Given the description of an element on the screen output the (x, y) to click on. 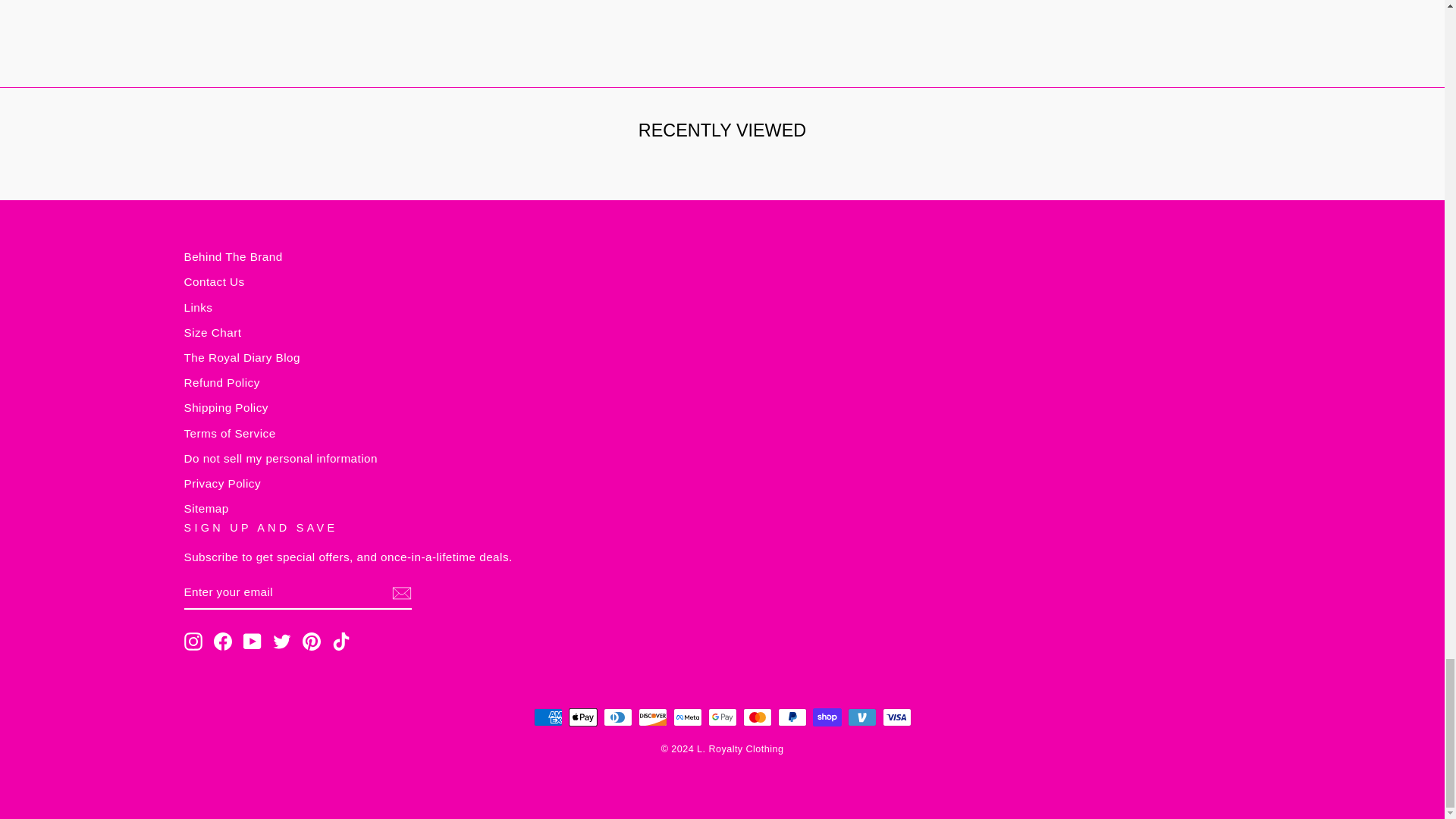
L. Royalty Clothing on Pinterest (310, 641)
L. Royalty Clothing on Twitter (282, 641)
L. Royalty Clothing on Instagram (192, 641)
L. Royalty Clothing on YouTube (251, 641)
L. Royalty Clothing on Facebook (222, 641)
